Given the description of an element on the screen output the (x, y) to click on. 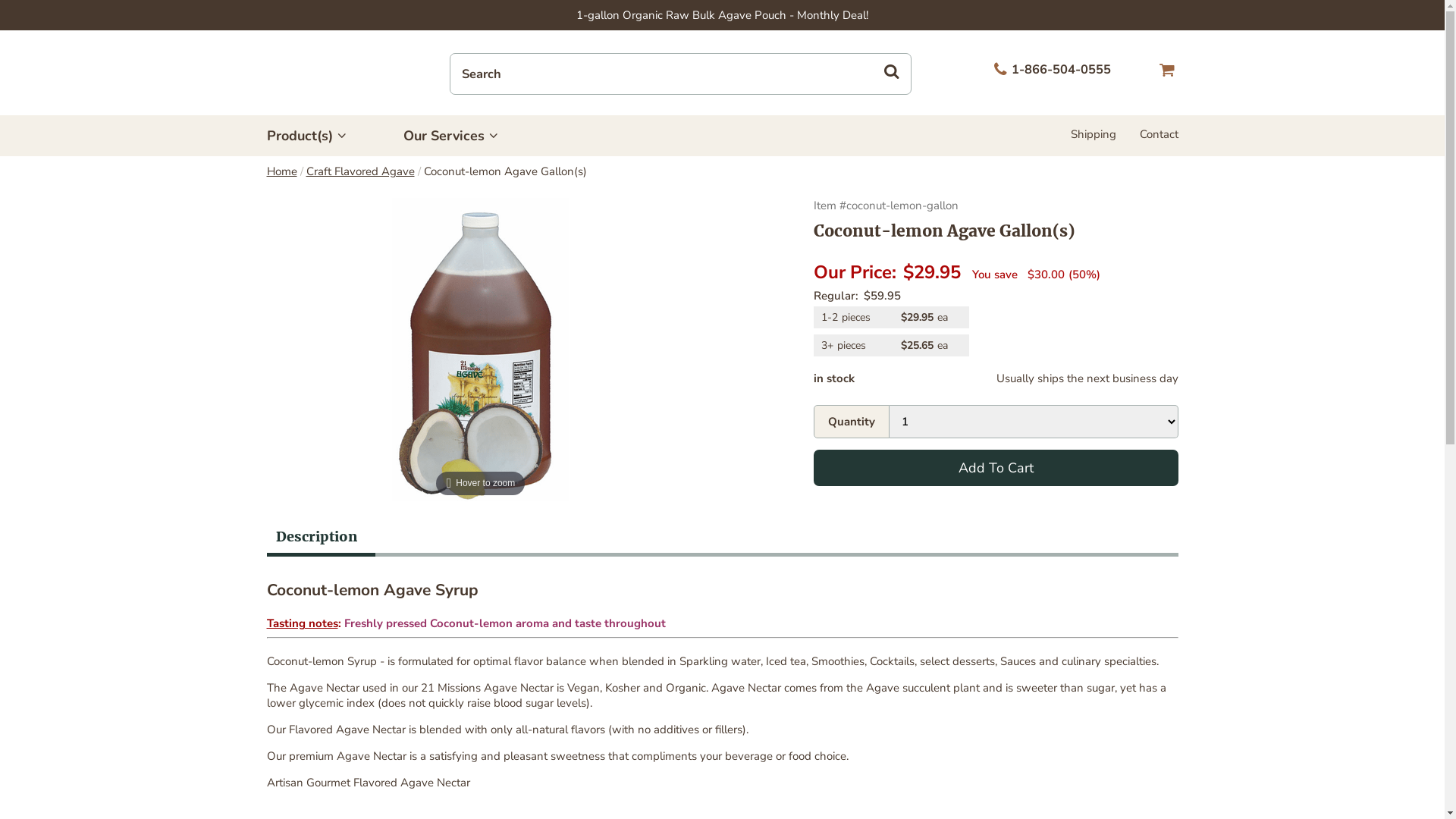
Hover to zoom Element type: text (480, 349)
1-866-504-0555 Element type: text (1049, 69)
1-gallon Organic Raw Bulk Agave Pouch - Monthly Deal! Element type: text (722, 14)
Craft Flavored Agave Element type: text (360, 170)
Add To Cart Element type: text (995, 467)
21 Missions Agave Element type: text (321, 72)
Shipping Element type: text (1093, 133)
Contact Element type: text (1158, 133)
Home Element type: text (281, 170)
